Given the description of an element on the screen output the (x, y) to click on. 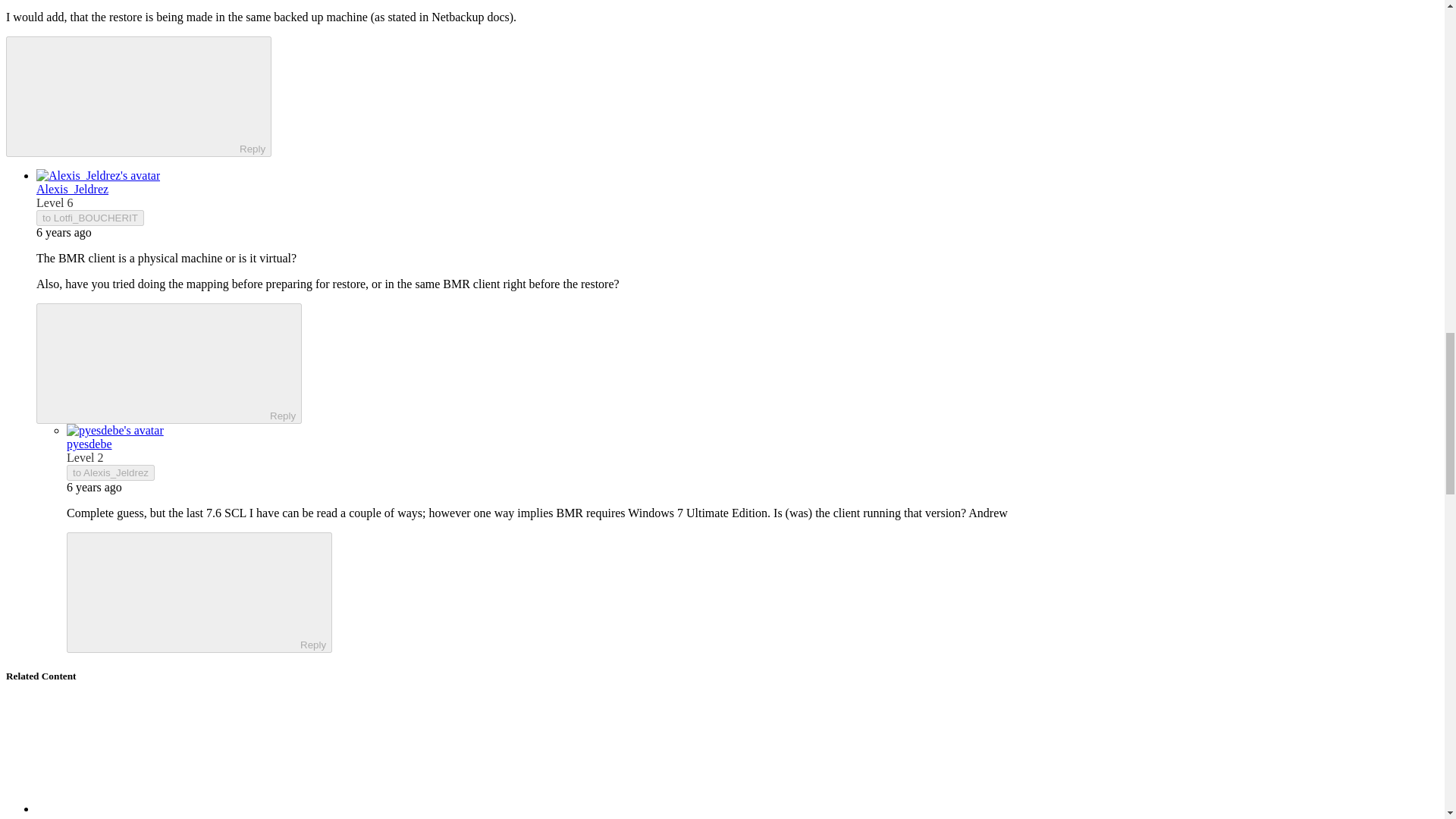
Reply (185, 591)
October 30, 2018 at 5:52 PM (94, 486)
ReplyReply (137, 96)
ReplyReply (198, 592)
Reply (155, 362)
Reply (125, 95)
ReplyReply (168, 363)
October 30, 2018 at 2:53 PM (63, 232)
pyesdebe (89, 443)
